Given the description of an element on the screen output the (x, y) to click on. 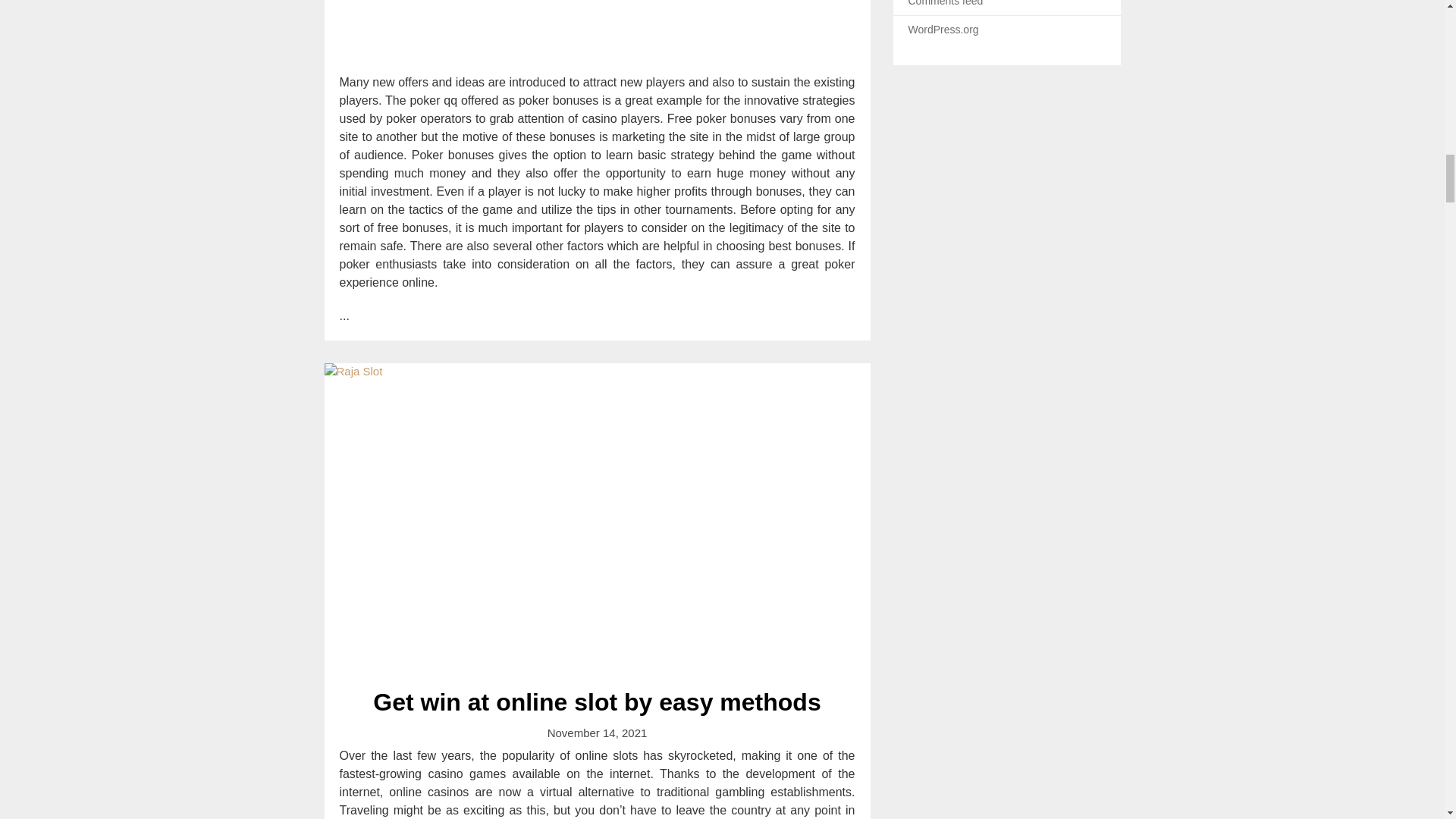
Get win at online slot by easy methods (596, 701)
Get win at online slot by easy methods (596, 701)
